Given the description of an element on the screen output the (x, y) to click on. 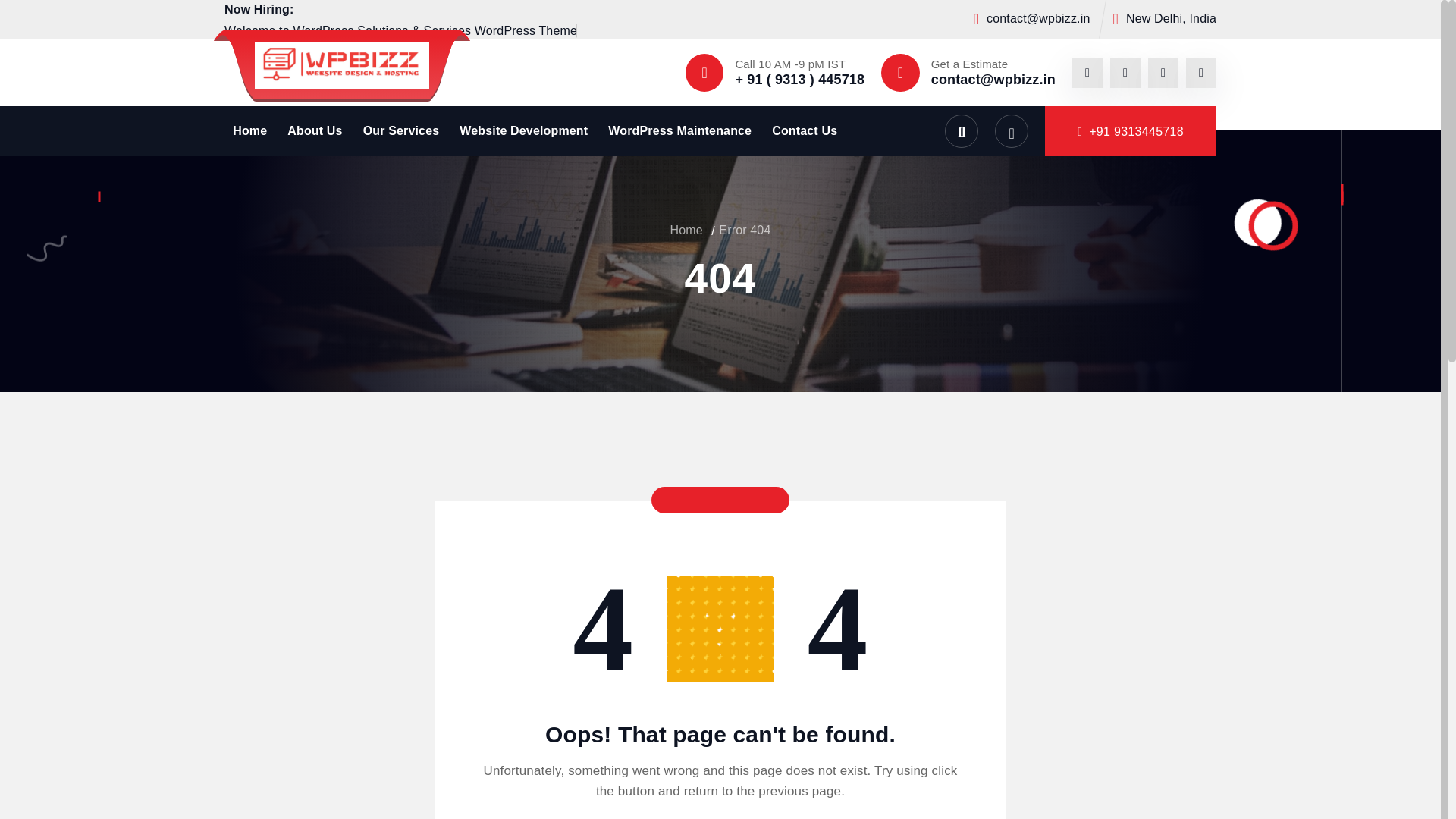
Website Development (524, 130)
Error 404 (744, 229)
Our Services (400, 130)
Contact Us (804, 130)
Home (249, 130)
Home (686, 229)
Our Services (400, 130)
About Us (314, 130)
About Us (314, 130)
New Delhi, India (1170, 18)
Home (249, 130)
WordPress Maintenance (679, 130)
Contact Us (804, 130)
WordPress Maintenance (679, 130)
Website Development (524, 130)
